Given the description of an element on the screen output the (x, y) to click on. 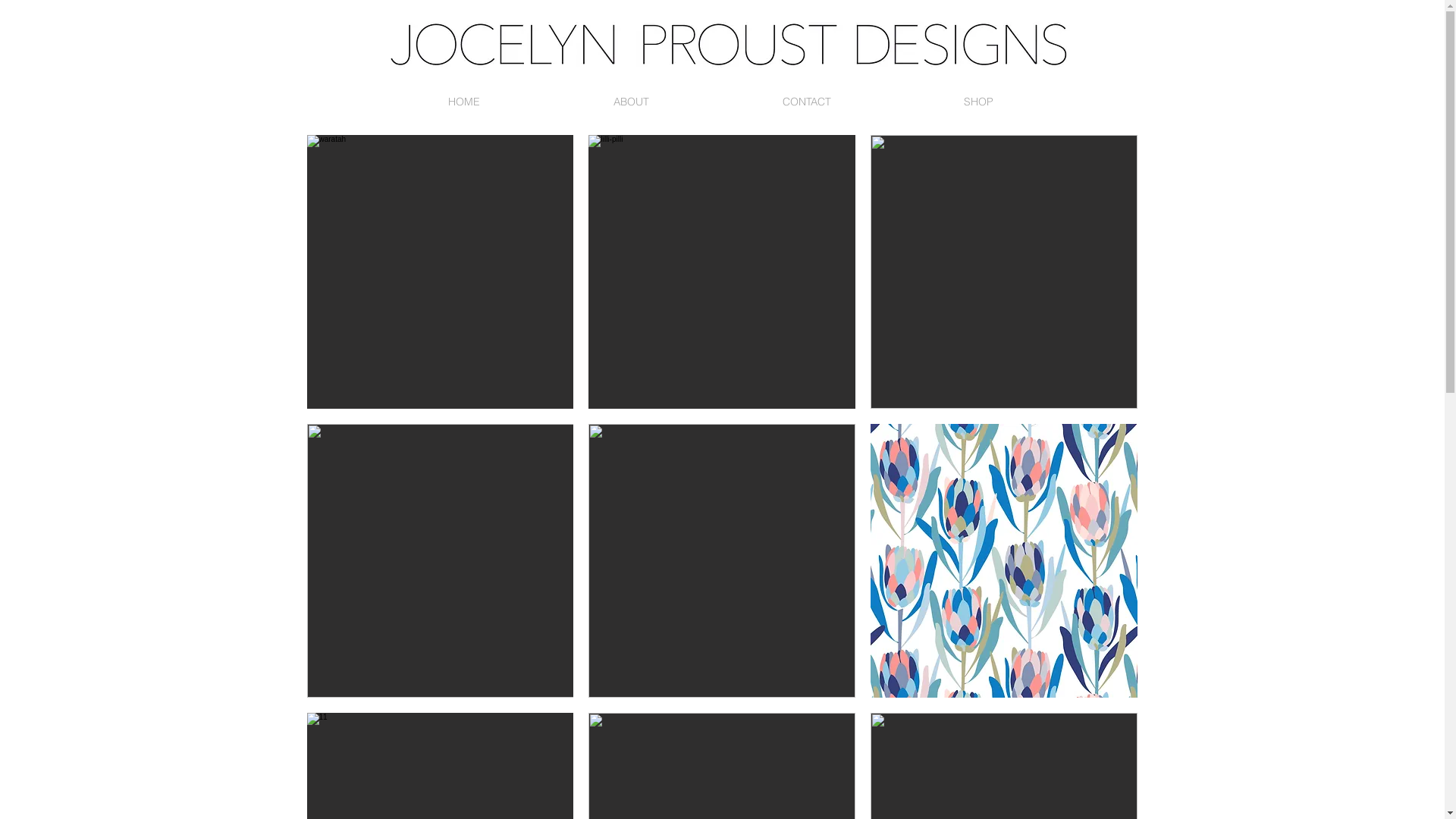
ABOUT Element type: text (630, 101)
HOME Element type: text (463, 101)
CONTACT Element type: text (806, 101)
SHOP Element type: text (978, 101)
